Given the description of an element on the screen output the (x, y) to click on. 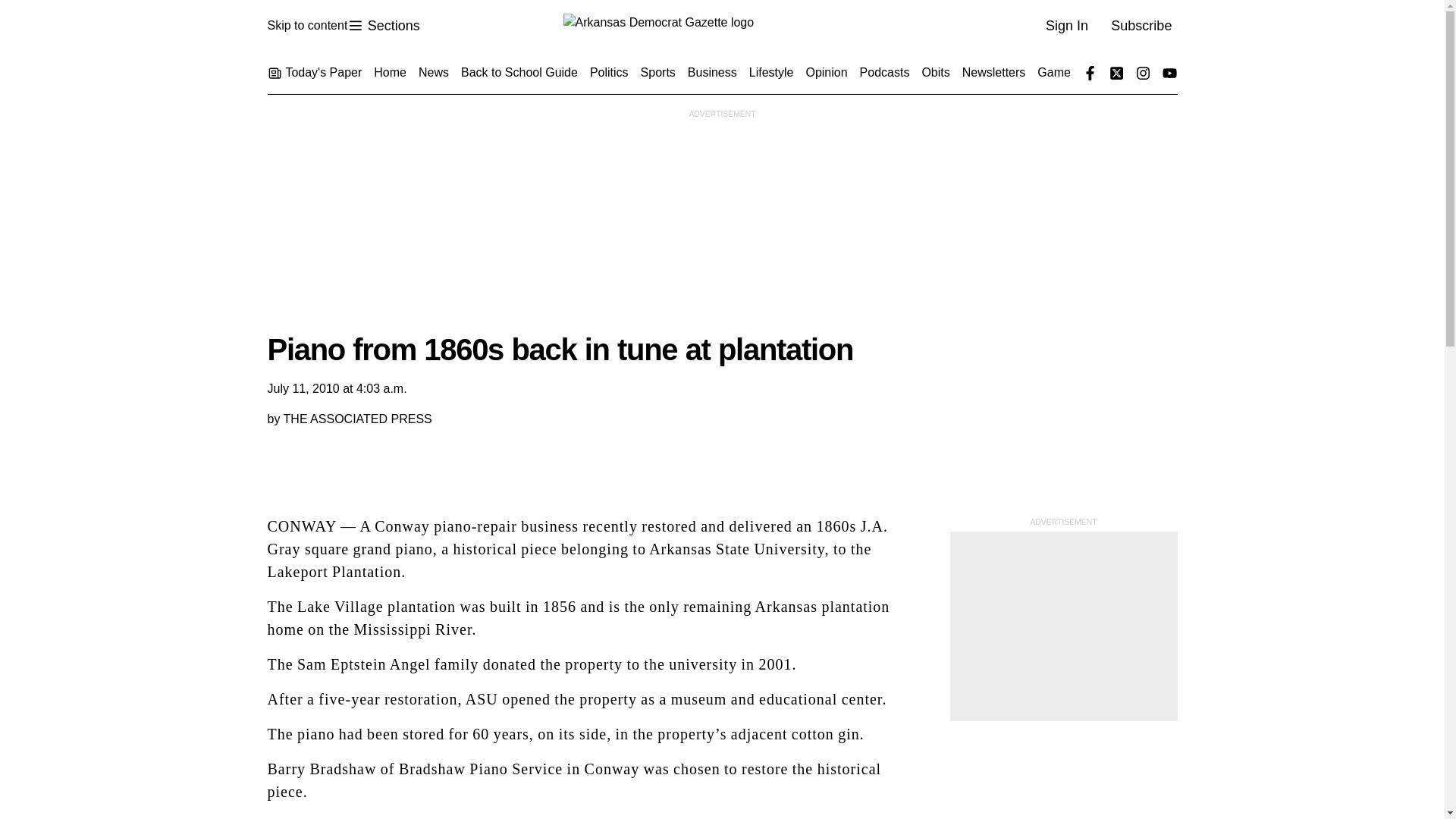
Arkansas Democrat Gazette (721, 25)
Skip to content (306, 25)
